Given the description of an element on the screen output the (x, y) to click on. 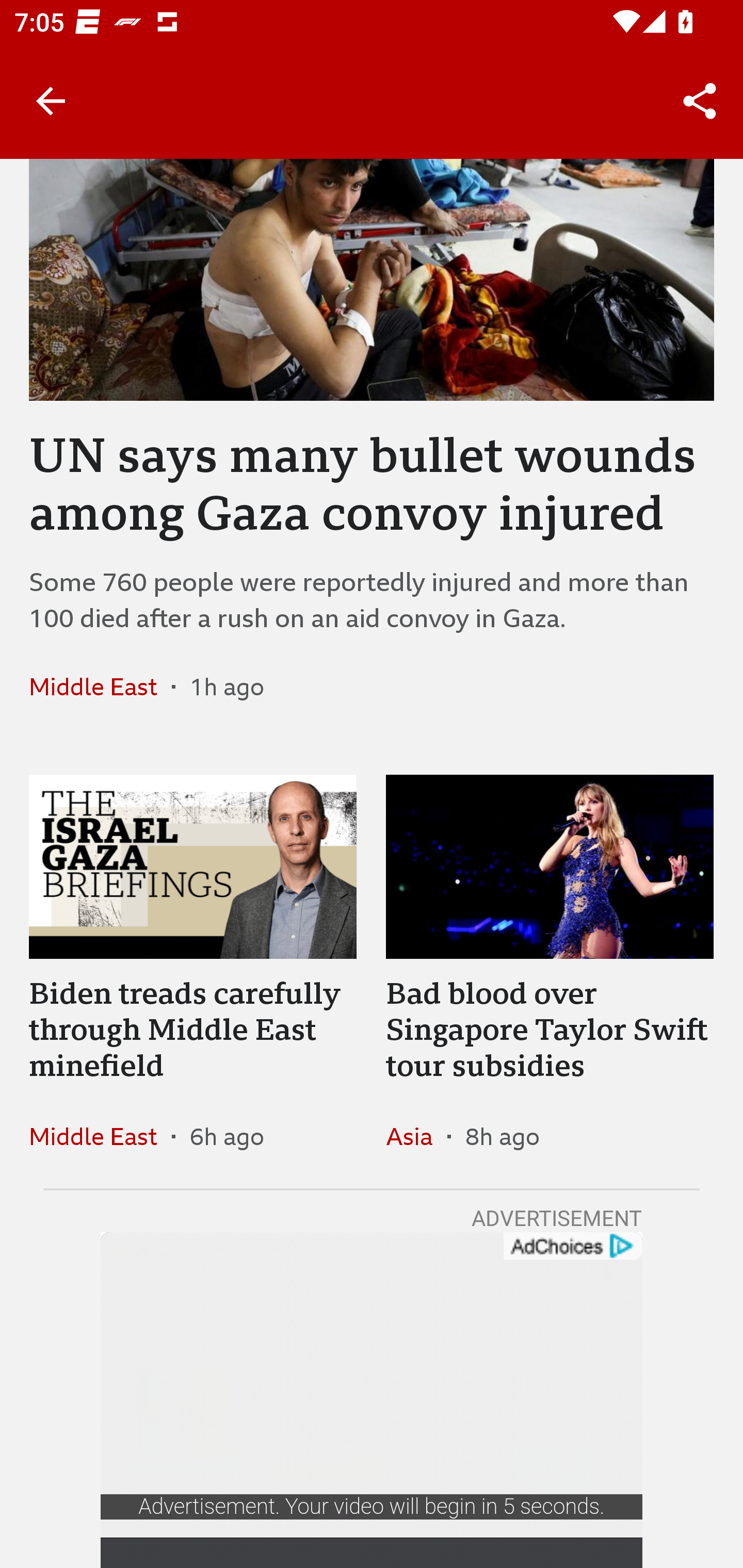
Back (50, 101)
Share (699, 101)
Middle East In the section Middle East (99, 686)
Middle East In the section Middle East (99, 1135)
Asia In the section Asia (416, 1135)
get?name=admarker-full-tl (571, 1246)
